Given the description of an element on the screen output the (x, y) to click on. 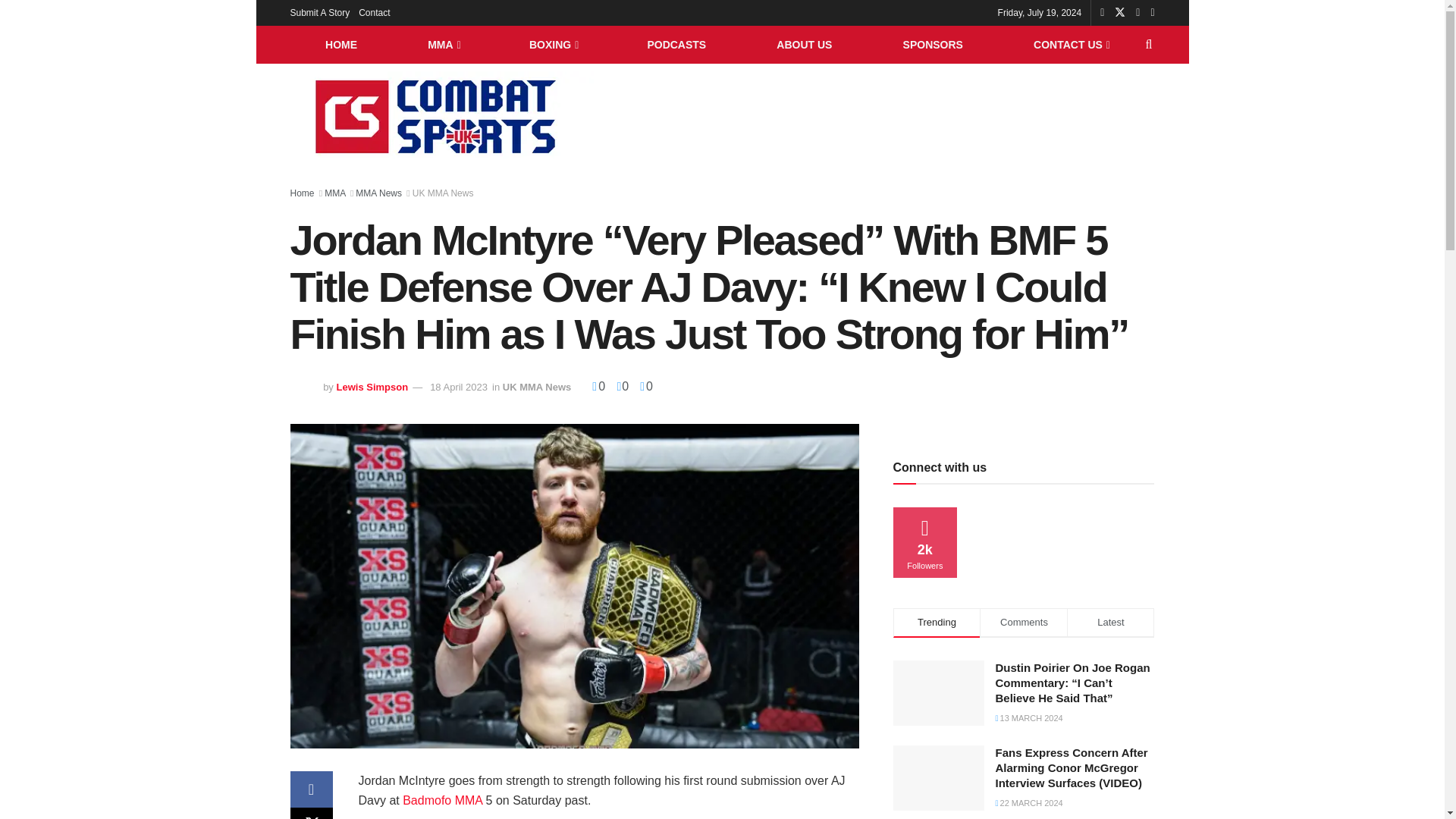
CONTACT US (1070, 44)
BOXING (552, 44)
HOME (340, 44)
Contact (374, 12)
PODCASTS (676, 44)
ABOUT US (804, 44)
Submit A Story (319, 12)
SPONSORS (932, 44)
MMA (444, 44)
